Given the description of an element on the screen output the (x, y) to click on. 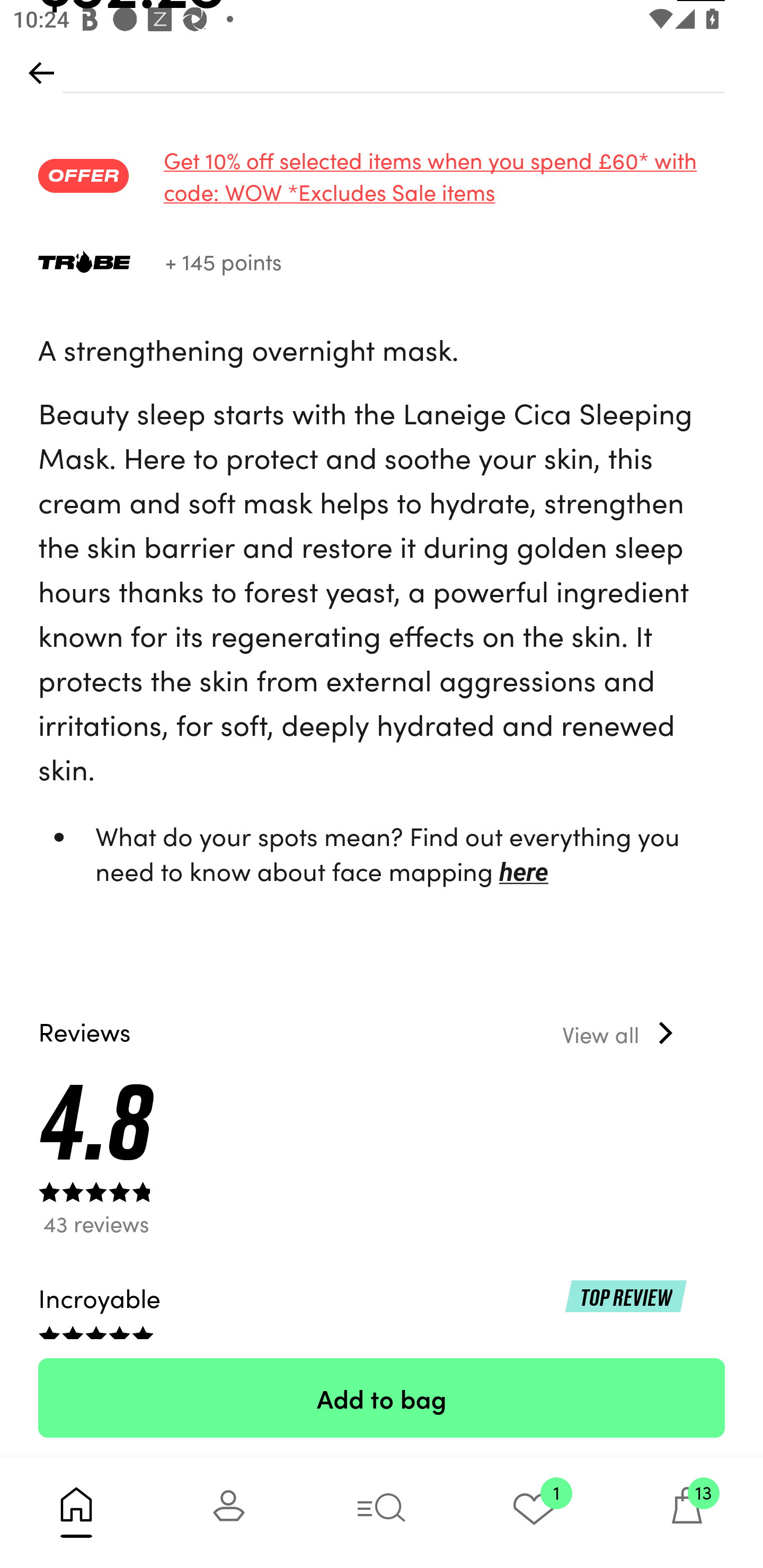
Add to bag (381, 1397)
1 (533, 1512)
13 (686, 1512)
